Given the description of an element on the screen output the (x, y) to click on. 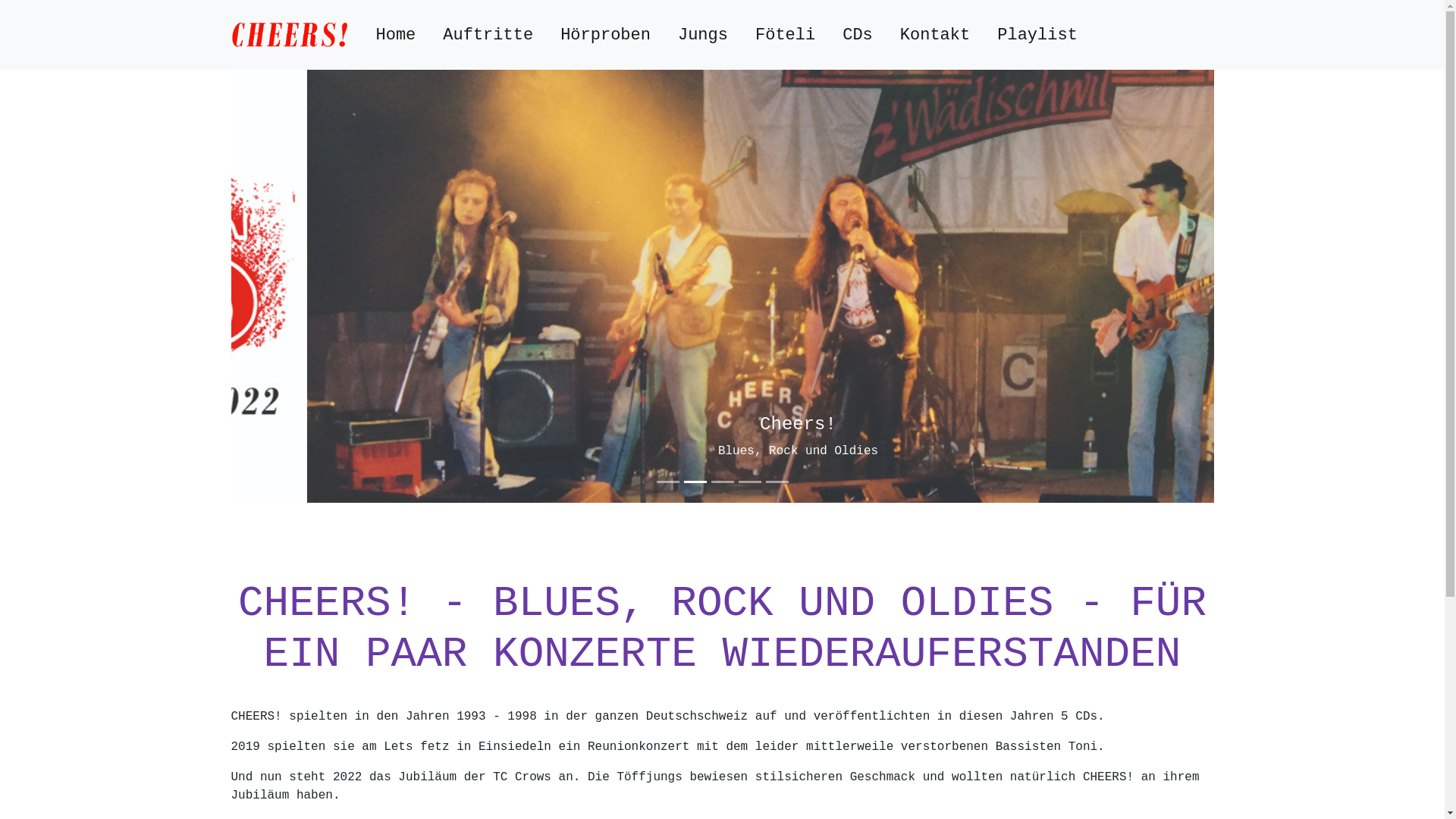
Bluesrock Element type: hover (289, 34)
Jungs Element type: text (702, 34)
Kontakt Element type: text (934, 34)
Home Element type: text (396, 34)
Playlist Element type: text (1037, 34)
CDs Element type: text (857, 34)
Auftritte Element type: text (487, 34)
